Given the description of an element on the screen output the (x, y) to click on. 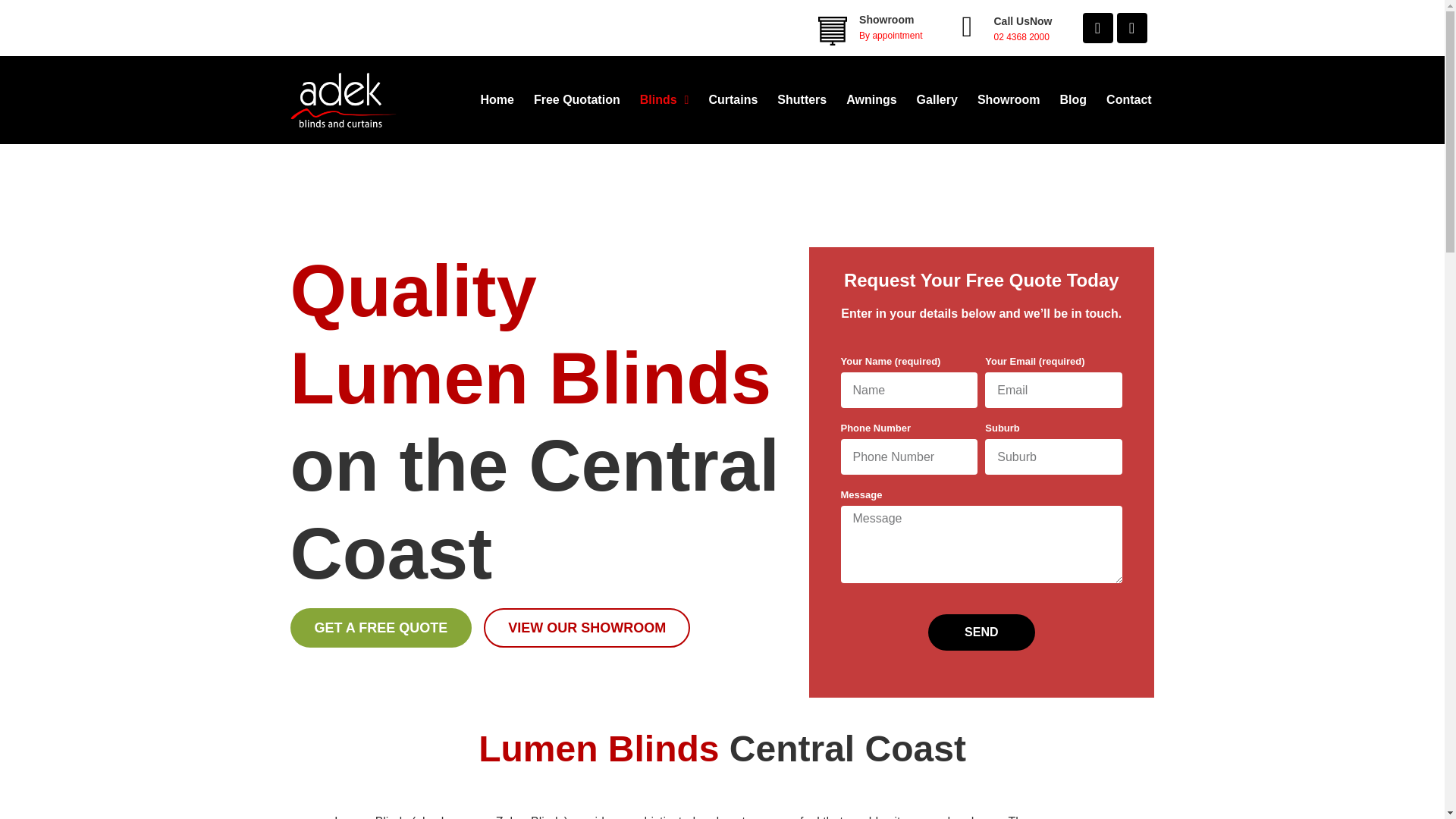
Gallery (927, 99)
GET A FREE QUOTE (380, 627)
Contact (1118, 99)
Free Quotation (566, 99)
02 4368 2000 (1020, 36)
Call UsNow (1021, 21)
SEND (980, 632)
Blog (1064, 99)
Showroom (999, 99)
Curtains (722, 99)
